Given the description of an element on the screen output the (x, y) to click on. 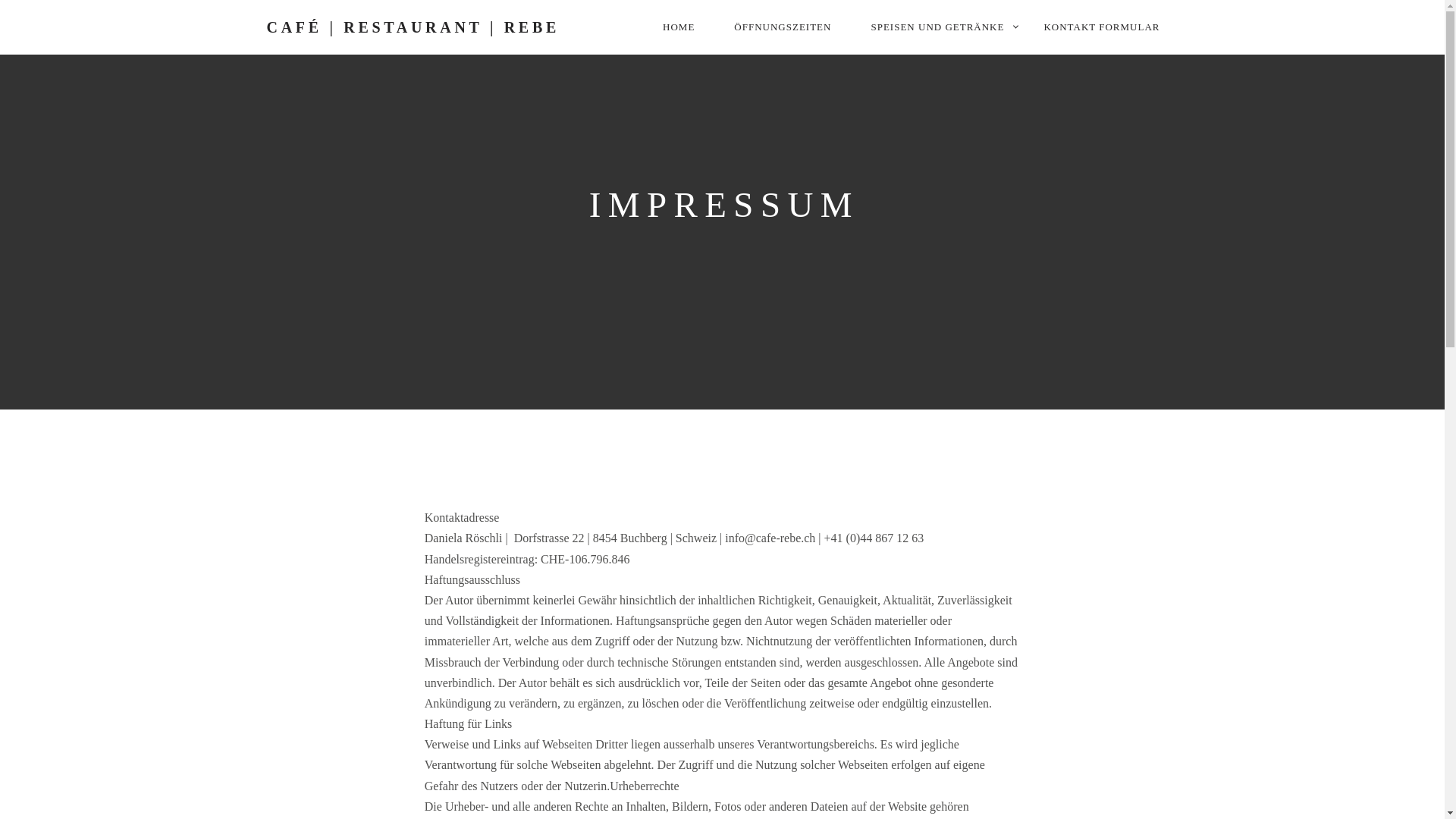
KONTAKT FORMULAR Element type: text (1101, 26)
HOME Element type: text (678, 26)
